Given the description of an element on the screen output the (x, y) to click on. 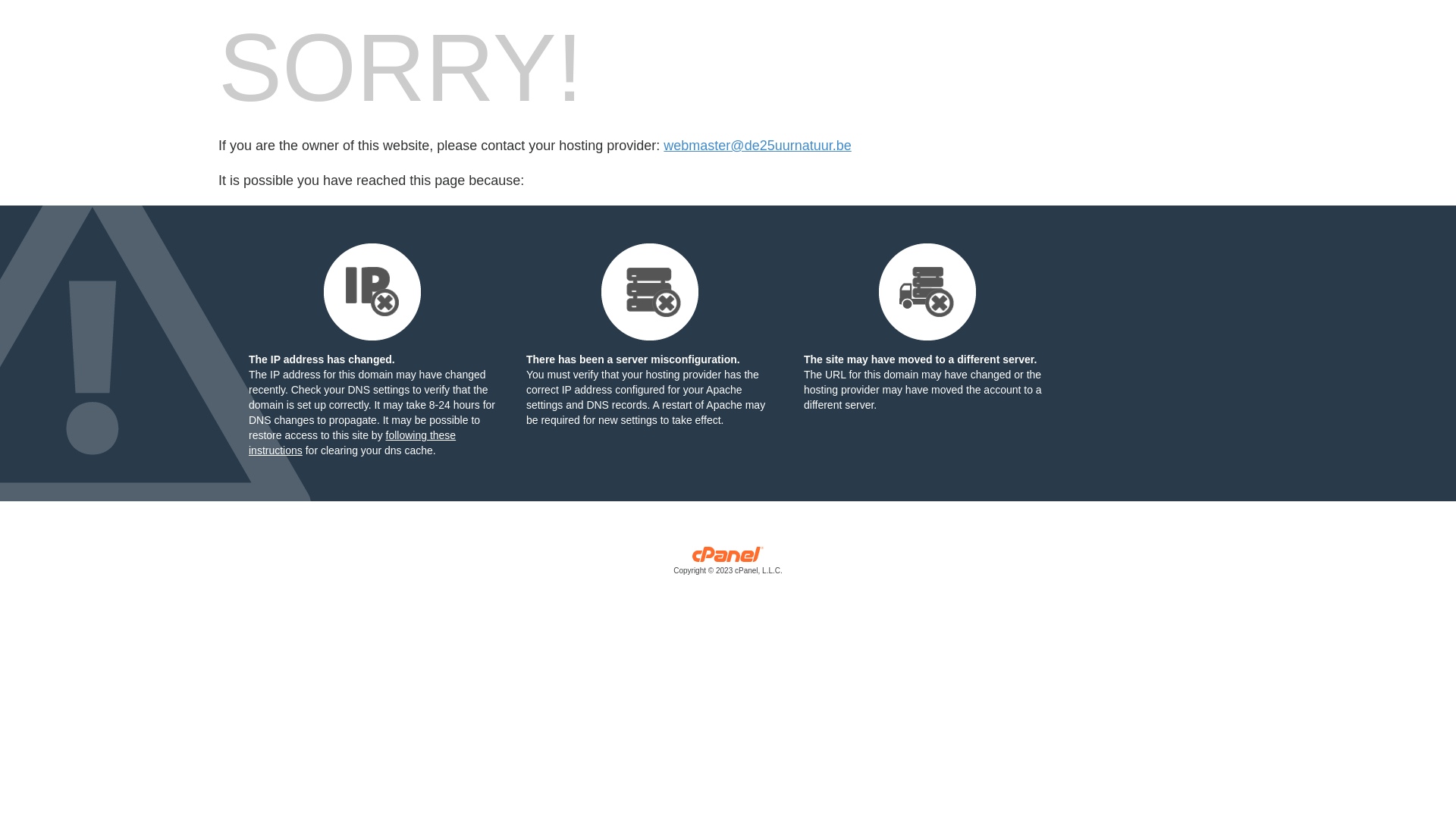
following these instructions Element type: text (351, 442)
webmaster@de25uurnatuur.be Element type: text (756, 145)
